Given the description of an element on the screen output the (x, y) to click on. 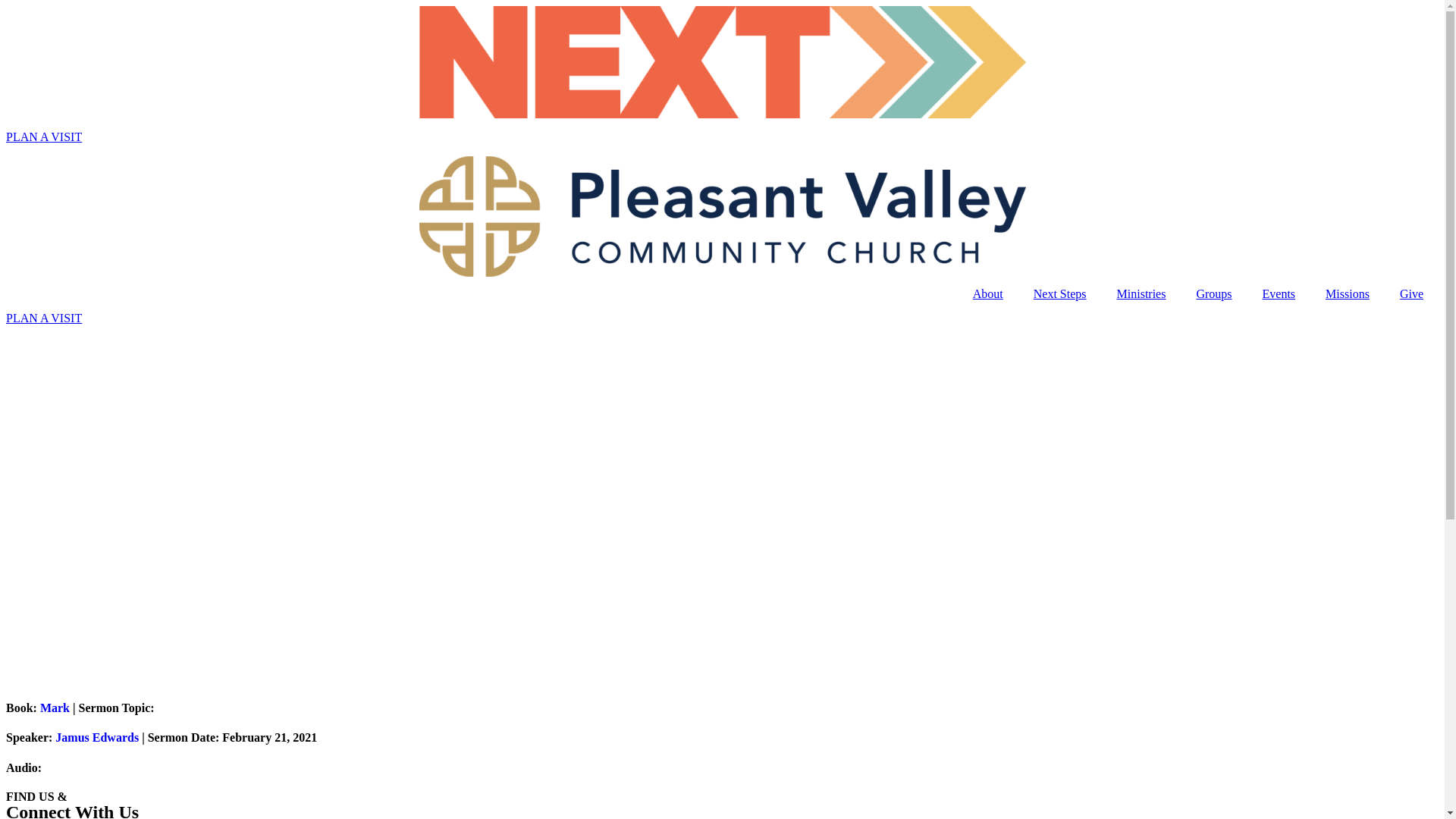
There&rsquo;s a Better Place to Put Tears than in your Beer Element type: hover (309, 495)
Give Element type: text (1411, 293)
Events Element type: text (1279, 293)
Mark Element type: text (54, 707)
Groups Element type: text (1213, 293)
About Element type: text (987, 293)
Ministries Element type: text (1141, 293)
PLAN A VISIT Element type: text (43, 136)
PLAN A VISIT Element type: text (43, 317)
Skip to content Element type: text (6, 6)
Missions Element type: text (1347, 293)
Next Steps Element type: text (1059, 293)
Jamus Edwards Element type: text (96, 737)
